Given the description of an element on the screen output the (x, y) to click on. 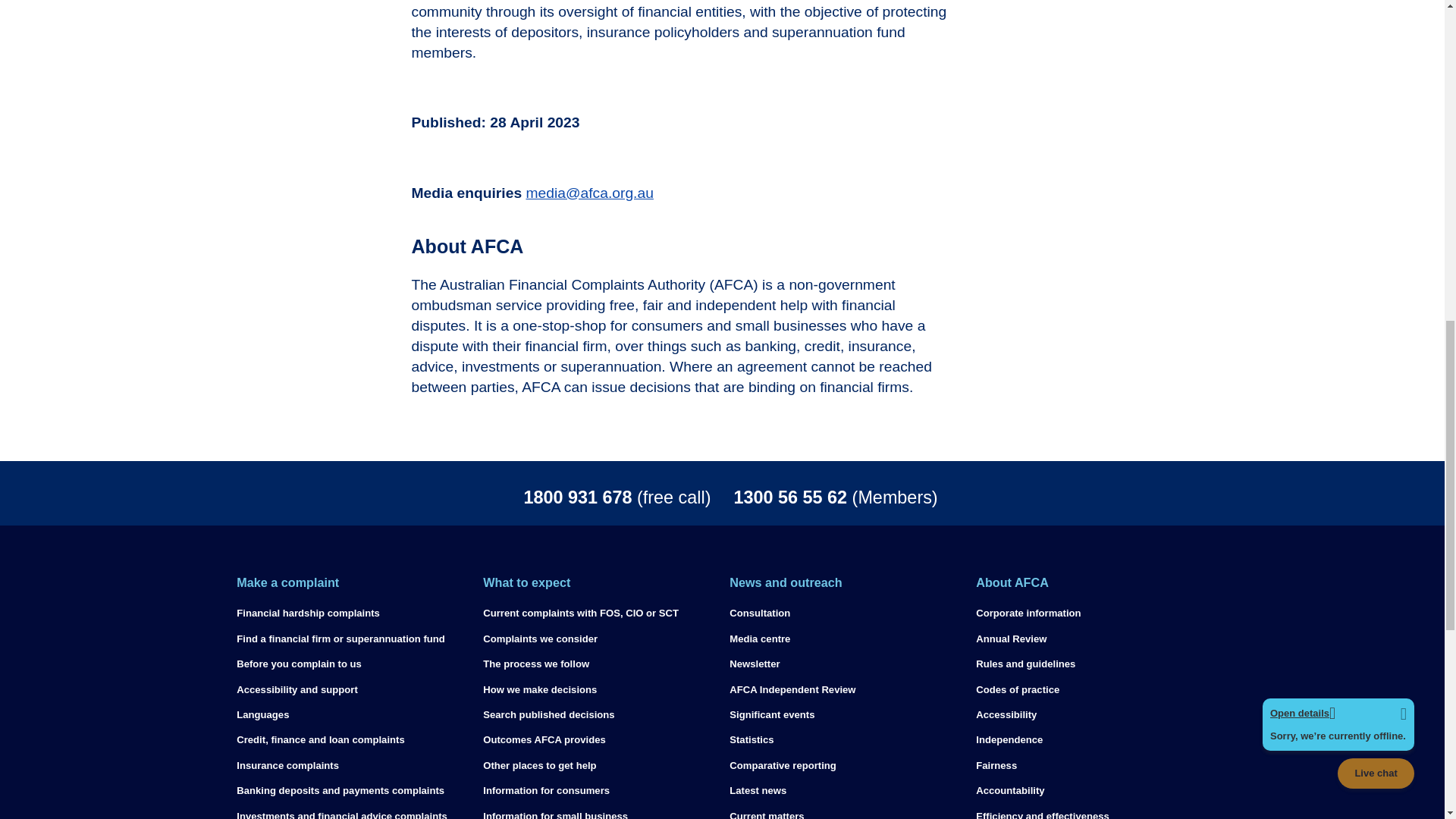
If you are not a member, click here to call us (511, 497)
If you are already a member, click here to call us (932, 497)
